Given the description of an element on the screen output the (x, y) to click on. 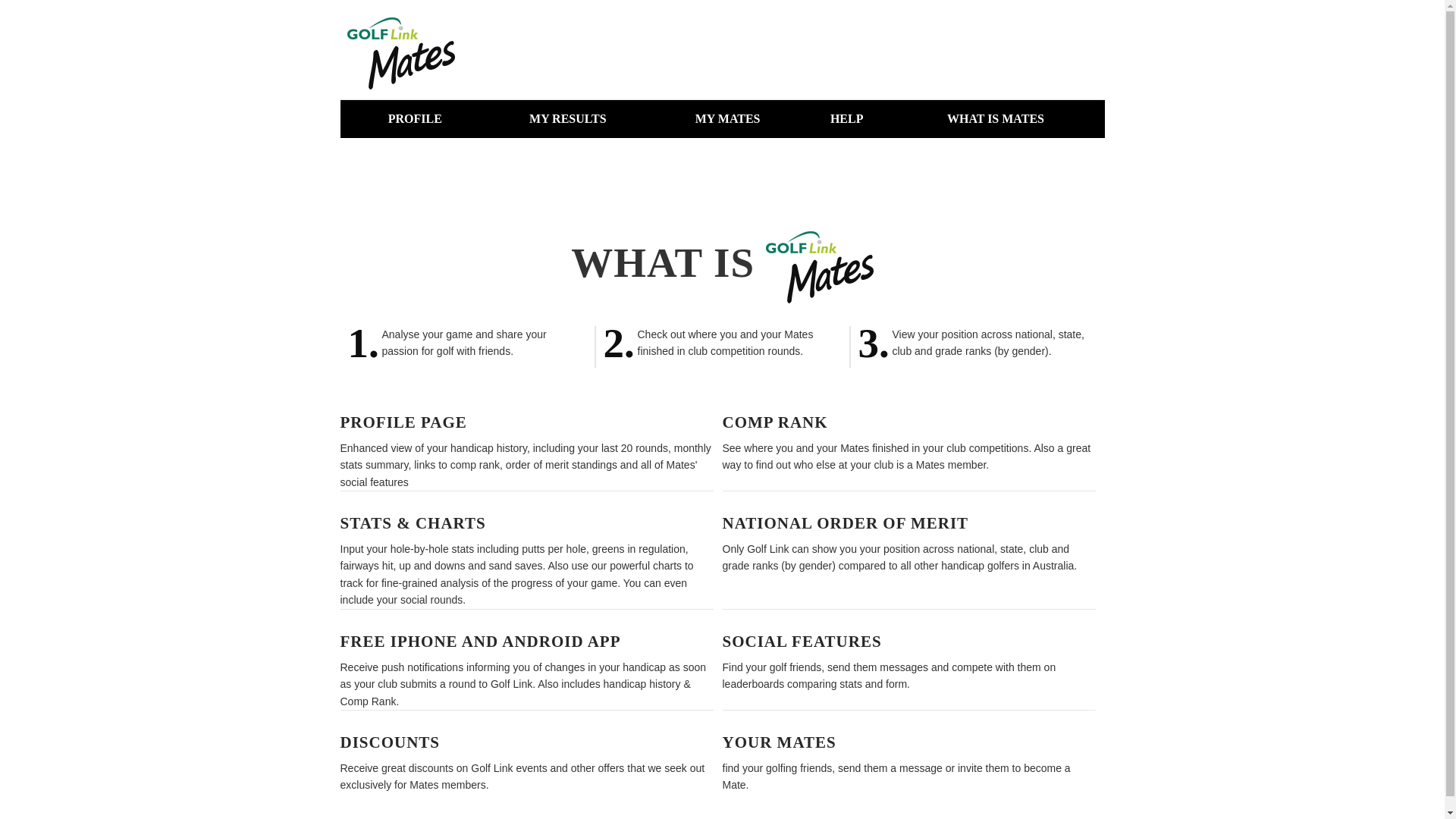
HELP Element type: text (846, 119)
WHAT IS MATES Element type: text (995, 119)
MY MATES Element type: text (727, 119)
MY RESULTS Element type: text (567, 119)
PROFILE Element type: text (414, 119)
